Given the description of an element on the screen output the (x, y) to click on. 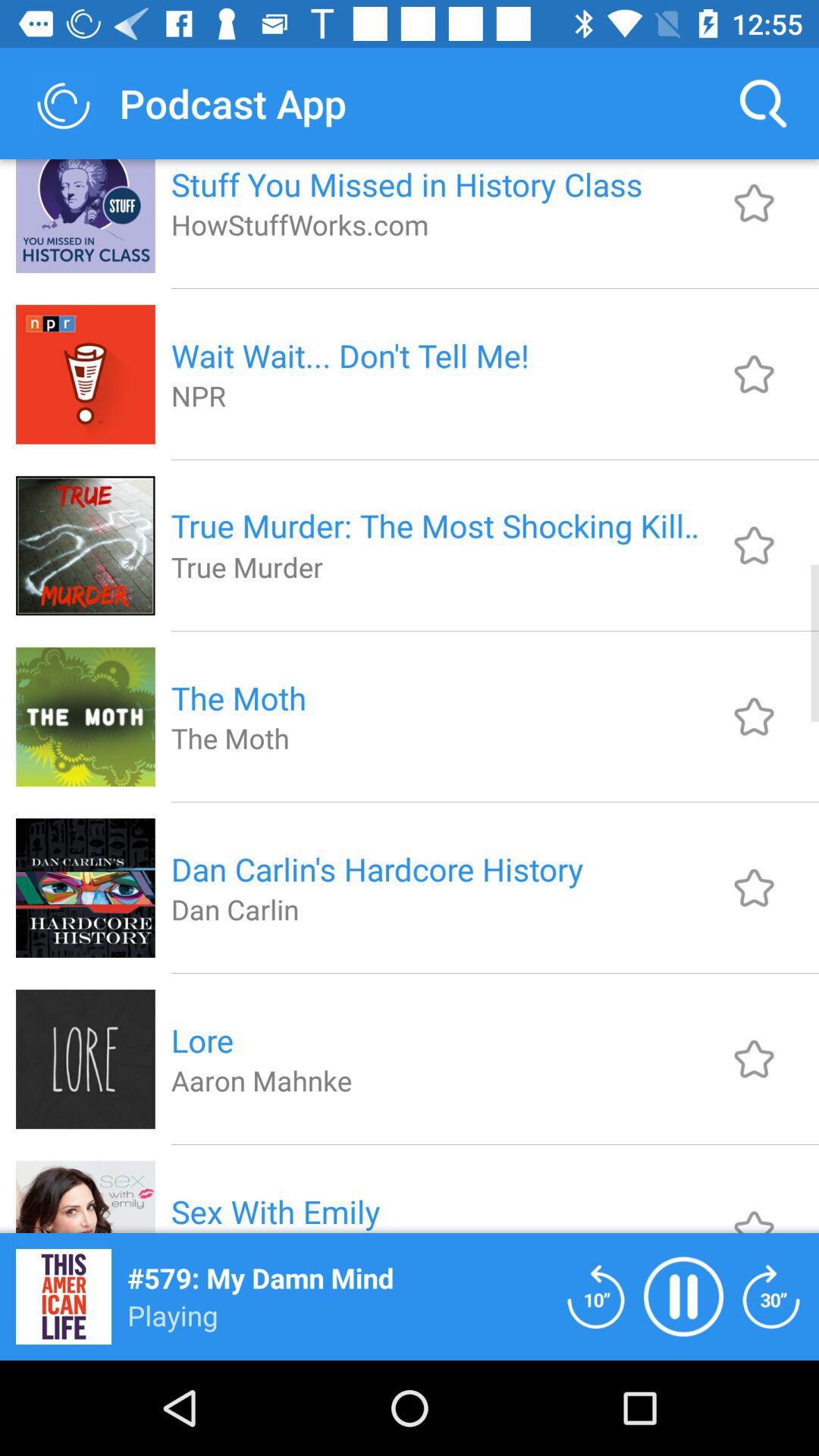
star item (754, 1058)
